Given the description of an element on the screen output the (x, y) to click on. 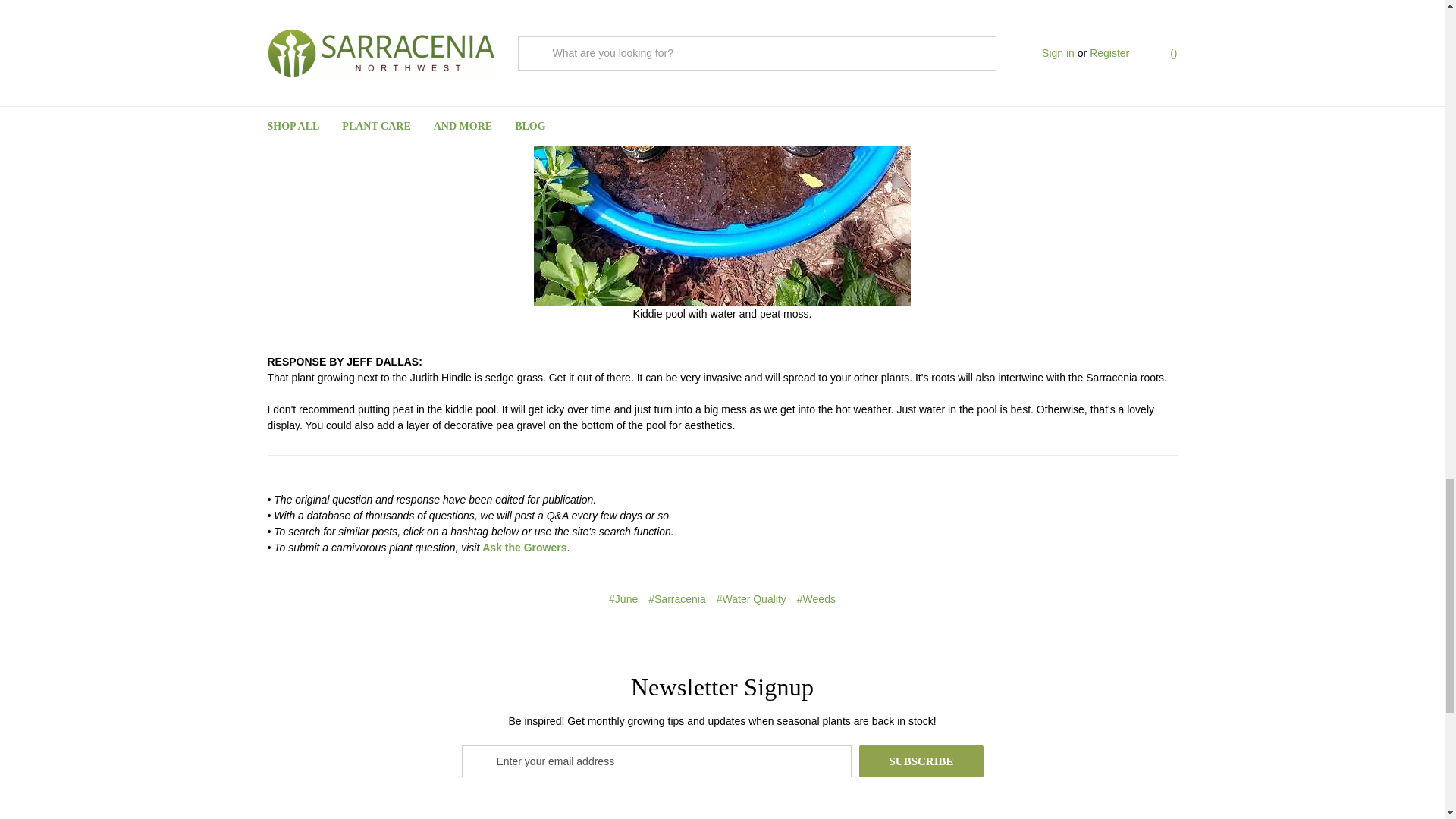
Subscribe (920, 761)
